Given the description of an element on the screen output the (x, y) to click on. 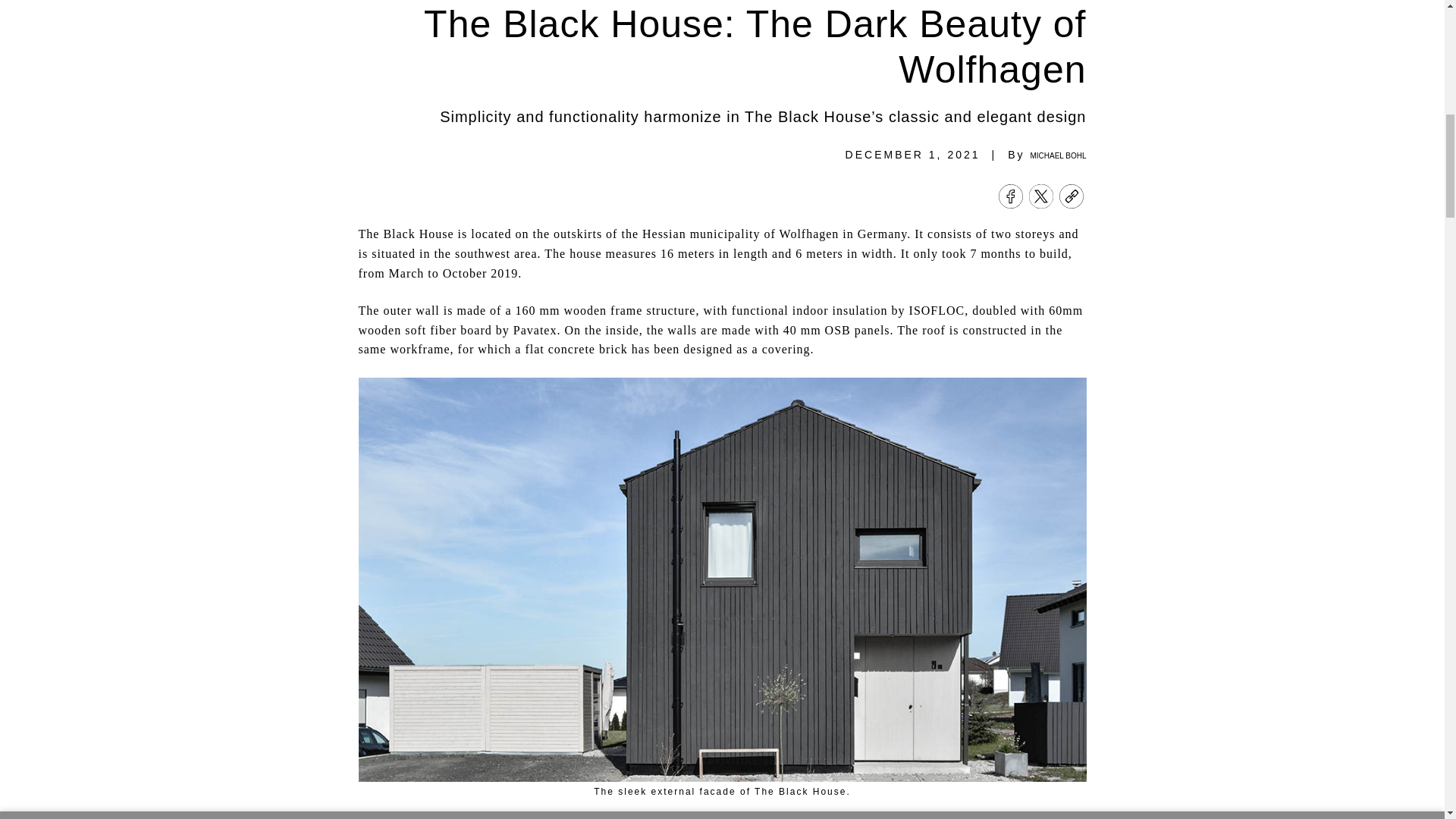
Facebook (1009, 198)
X (1040, 198)
Copy Link (1070, 198)
